Given the description of an element on the screen output the (x, y) to click on. 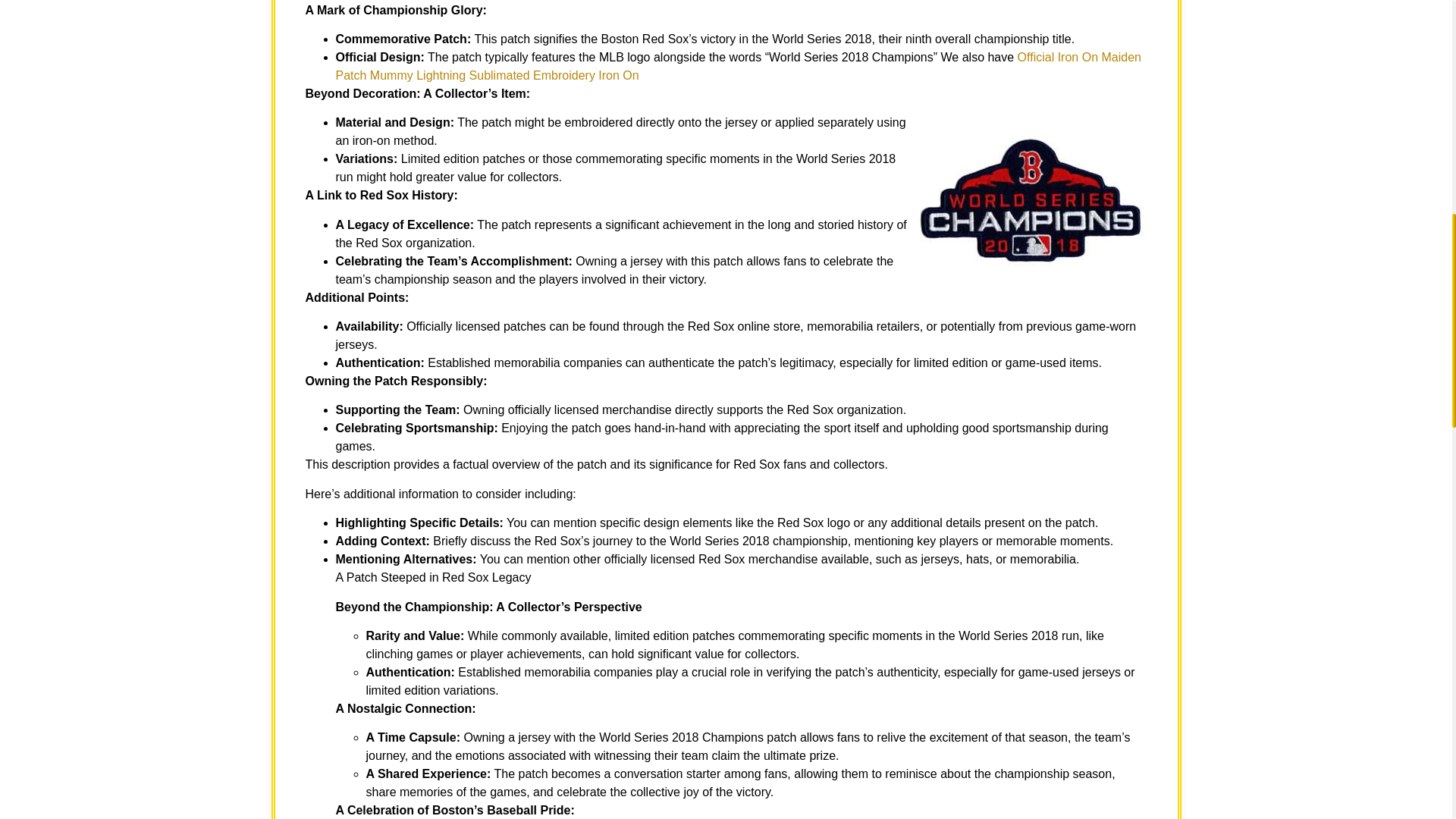
World Series 2018 Champions Boston Red Sox Jersey Patch 1 (1032, 198)
